Given the description of an element on the screen output the (x, y) to click on. 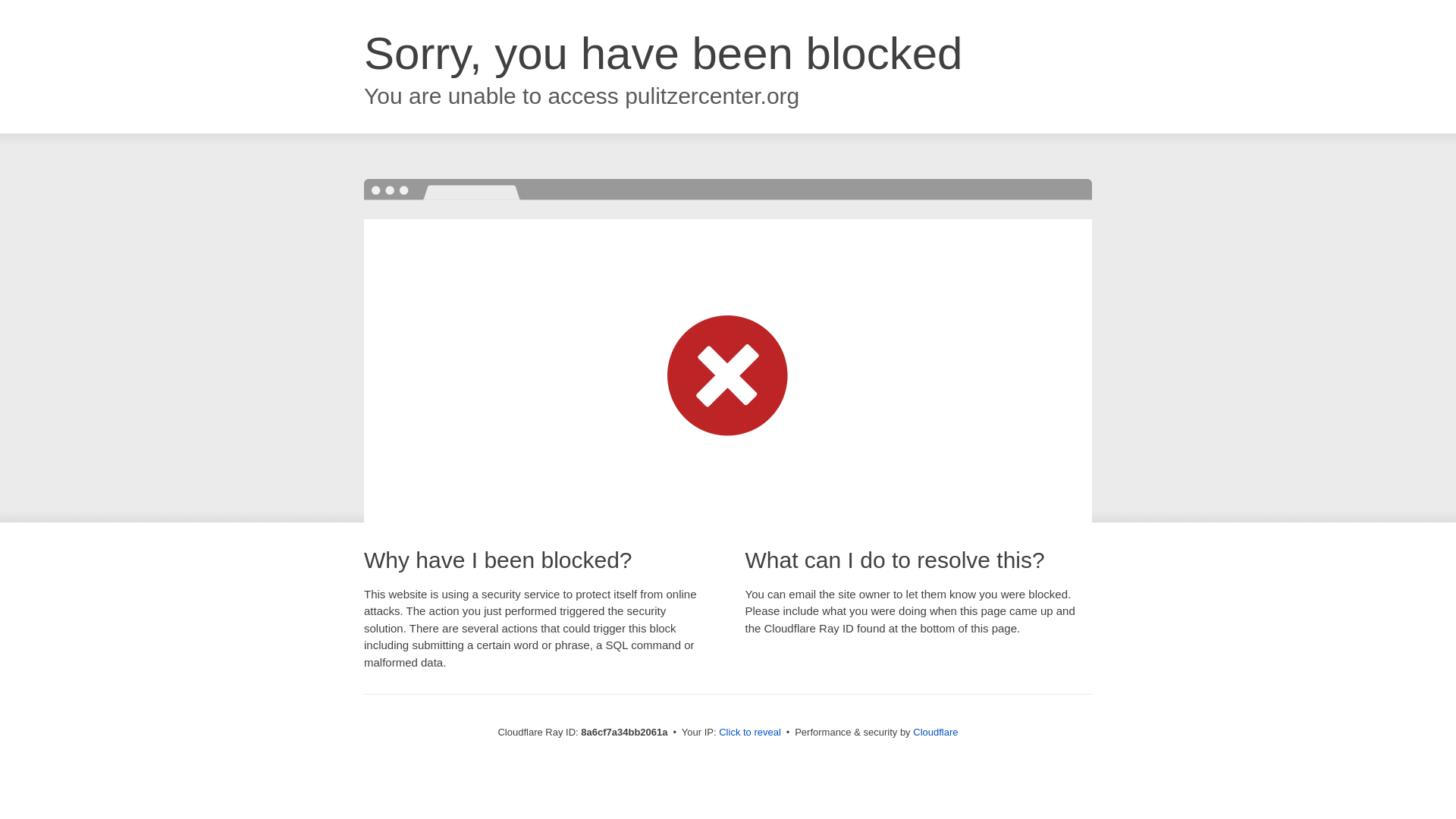
Cloudflare (935, 731)
Click to reveal (749, 732)
